Given the description of an element on the screen output the (x, y) to click on. 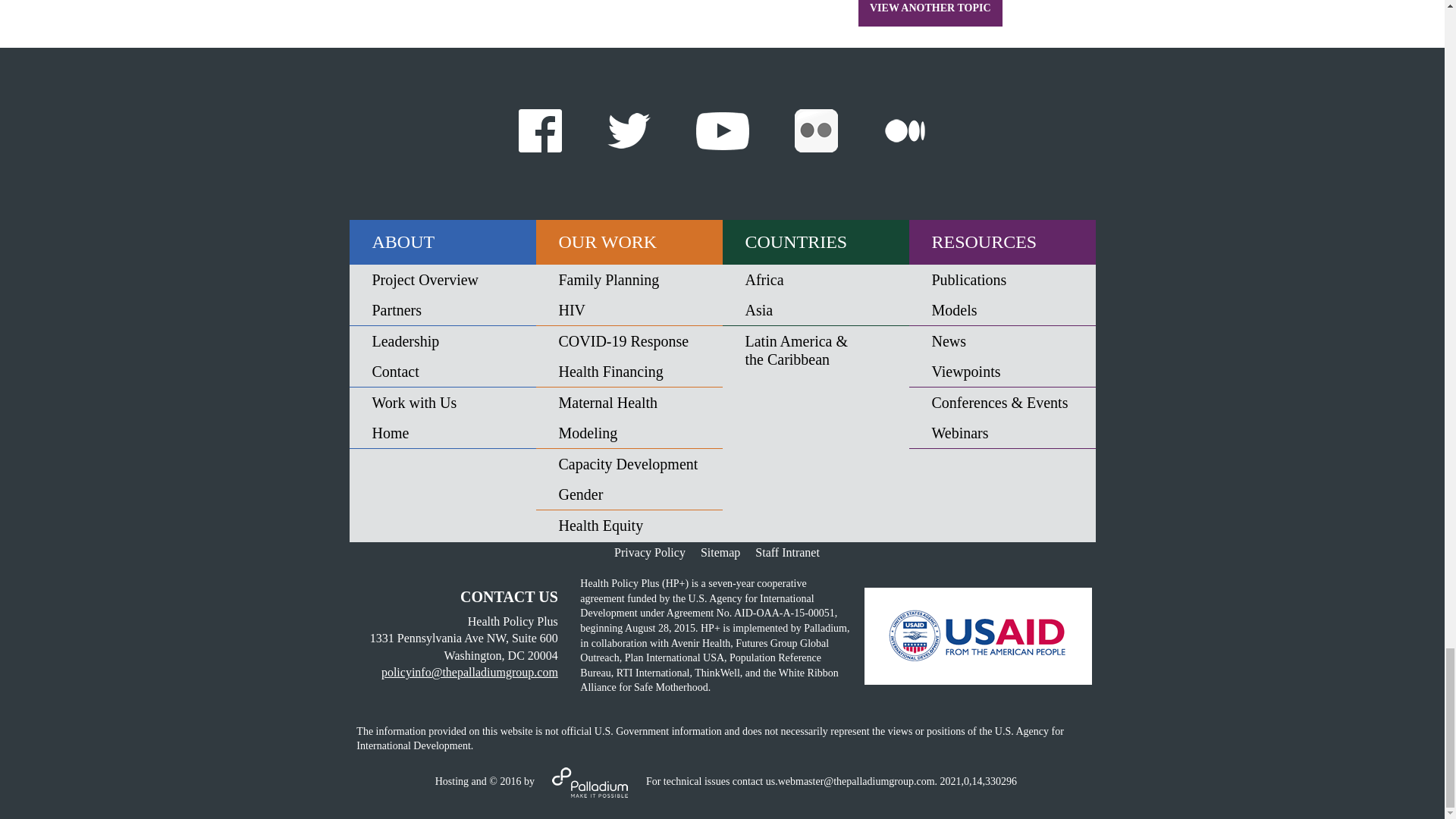
Palladium (589, 781)
Visit the USAID site (978, 634)
